Given the description of an element on the screen output the (x, y) to click on. 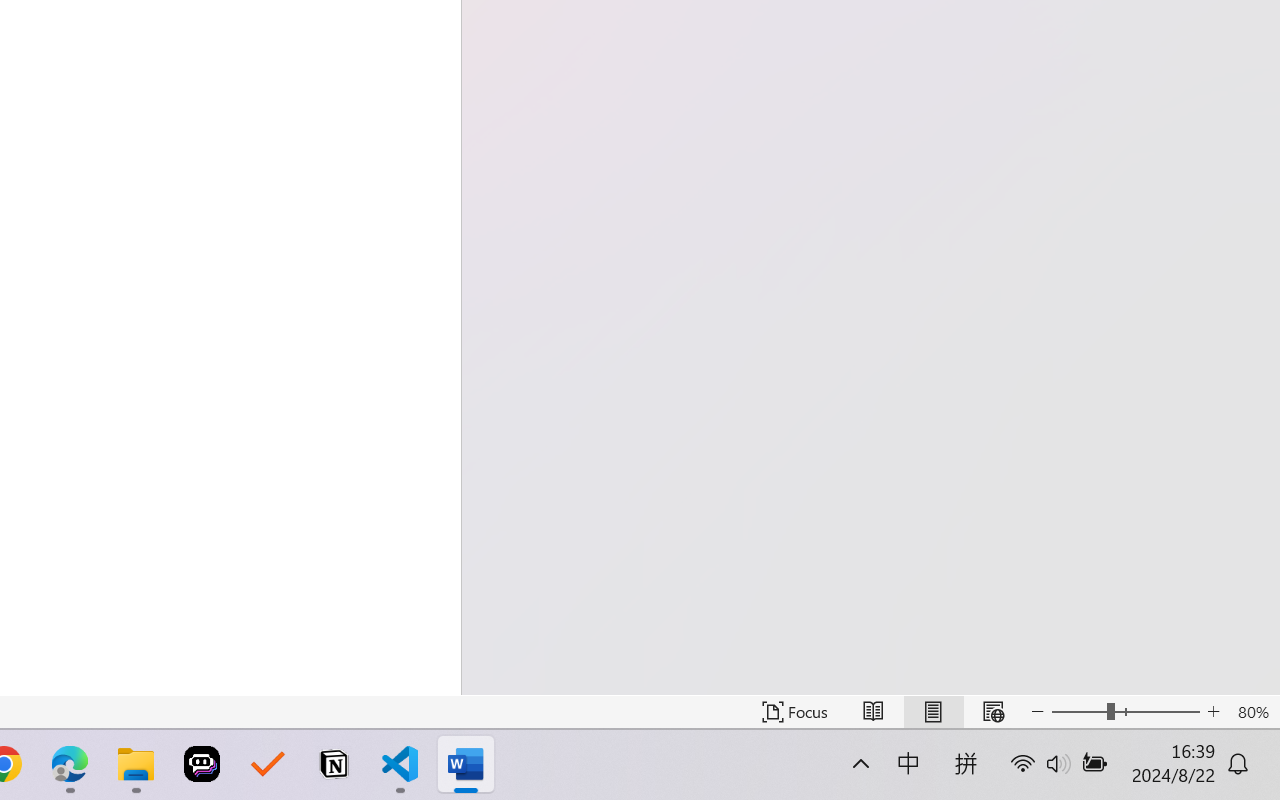
Zoom 80% (1253, 712)
